Given the description of an element on the screen output the (x, y) to click on. 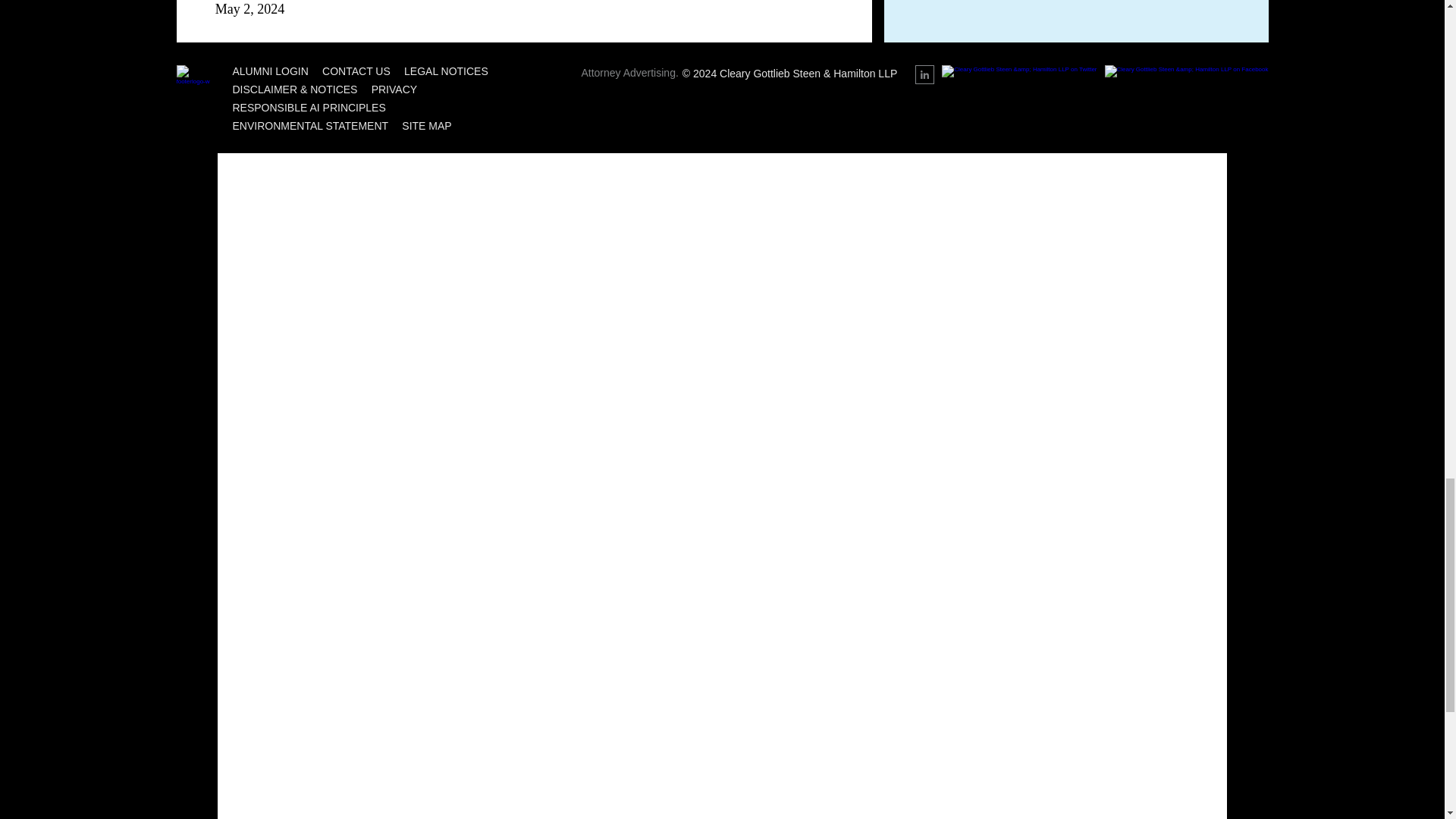
Privacy (393, 89)
Alumni Login (269, 70)
Contact Us (355, 70)
Responsible AI Principles (308, 107)
Legal Notices (445, 70)
Environmental Statement (309, 125)
Site Map (426, 125)
